Given the description of an element on the screen output the (x, y) to click on. 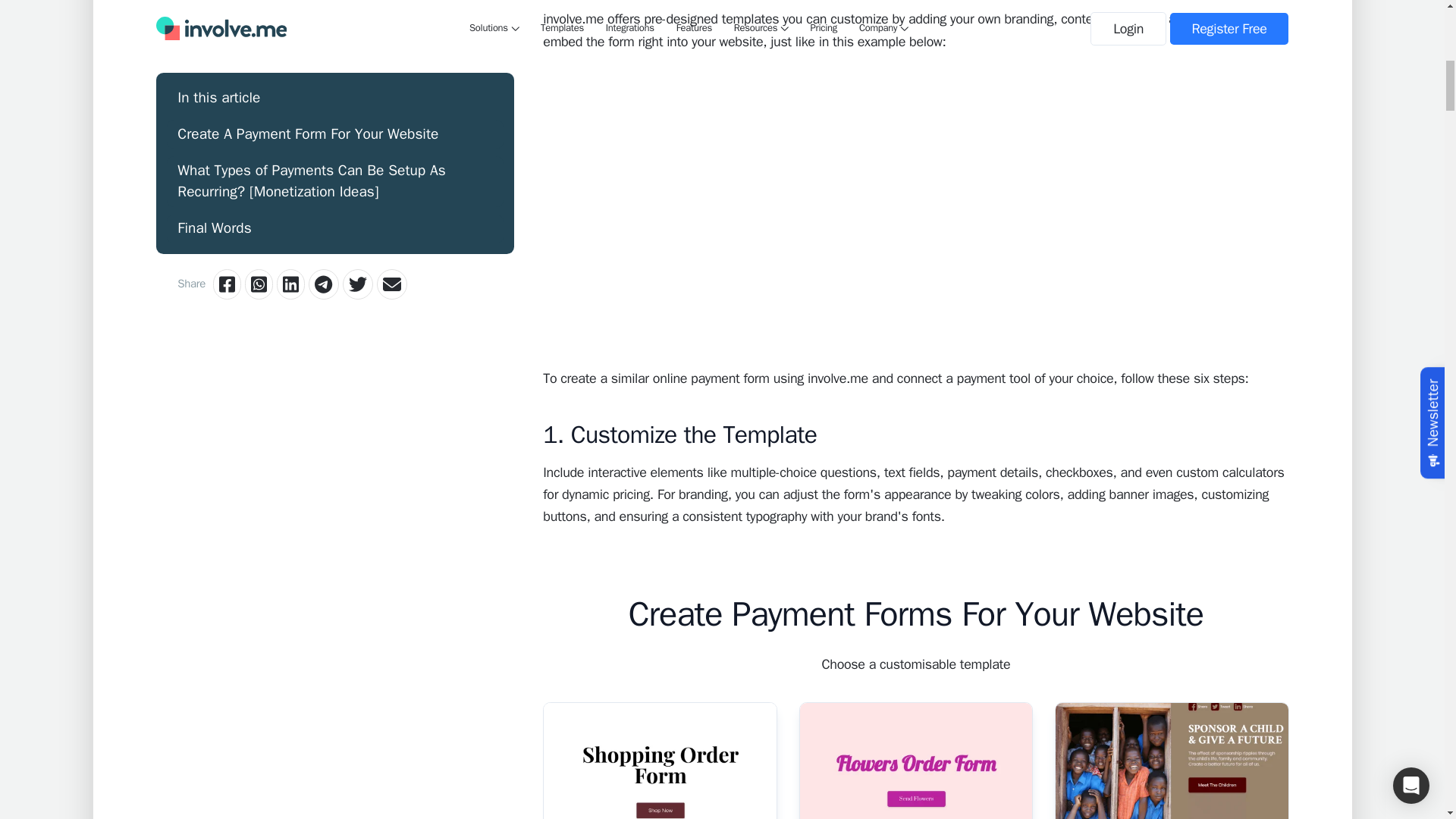
Flowers Order Form Template (916, 760)
Sponsor A Child Template (1171, 760)
Shopping Order Form Template (660, 760)
